Given the description of an element on the screen output the (x, y) to click on. 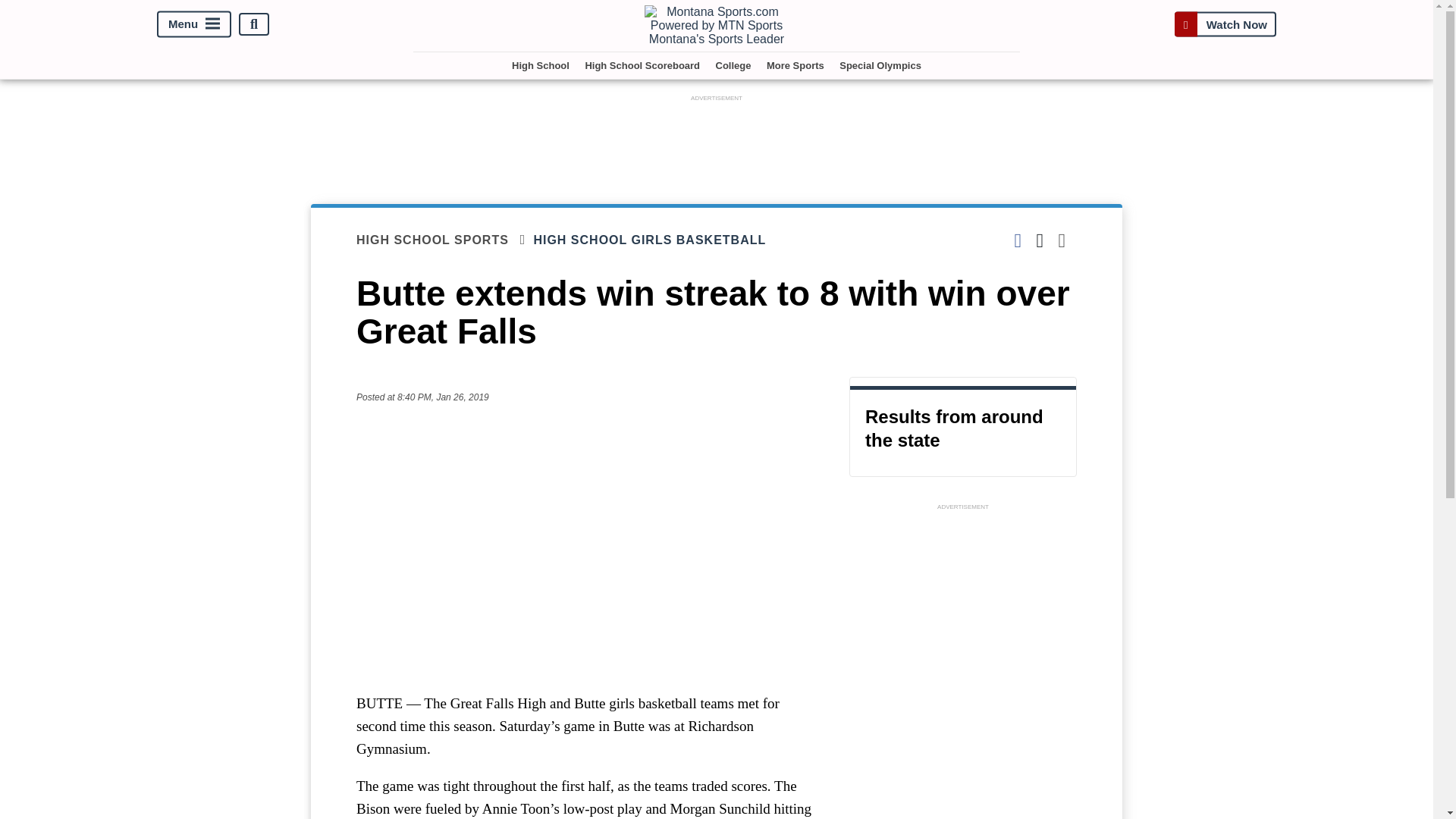
Watch Now (1224, 24)
Menu (194, 23)
3rd party ad content (962, 608)
3rd party ad content (716, 139)
YouTube player (587, 547)
